Given the description of an element on the screen output the (x, y) to click on. 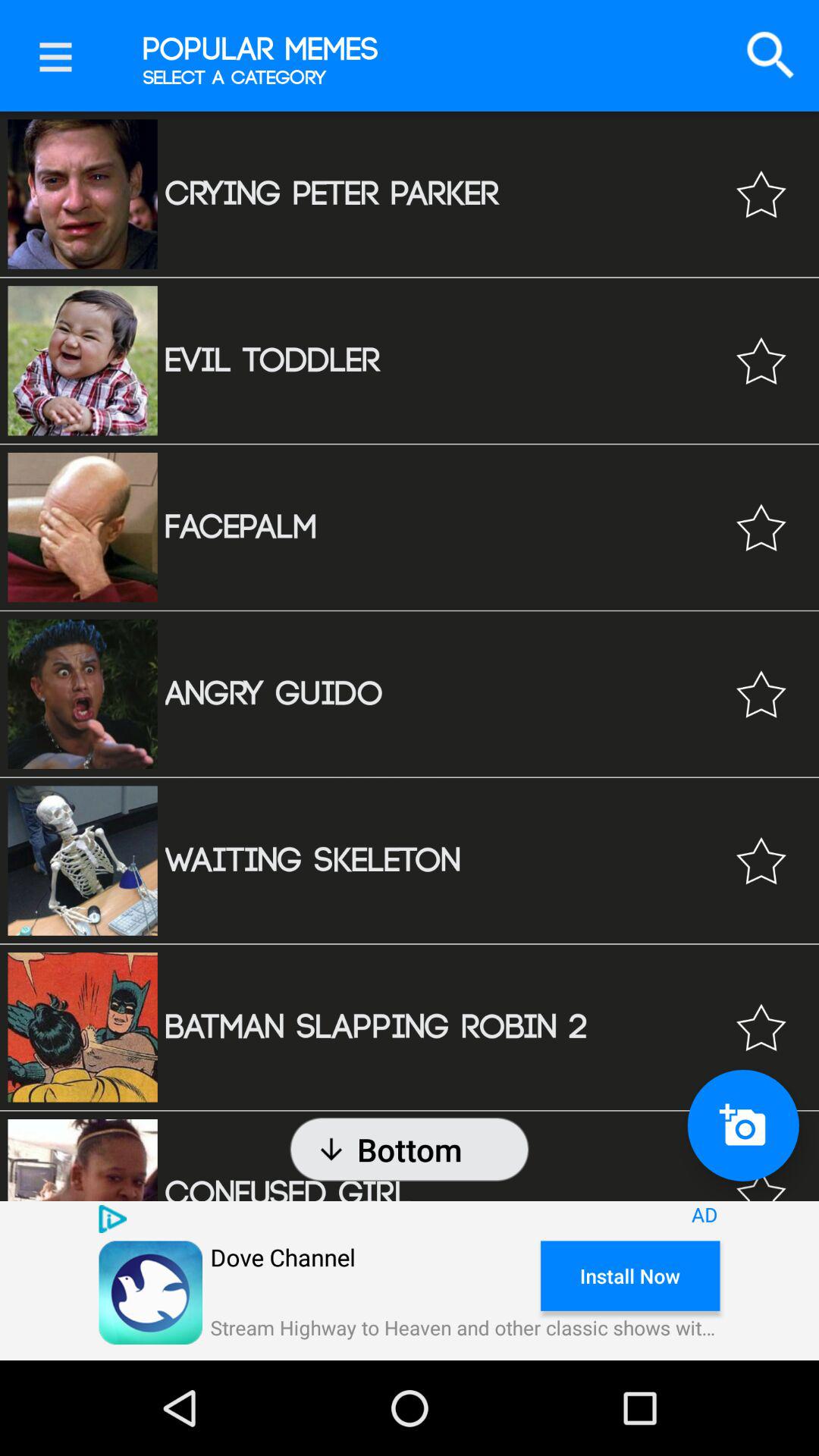
add to favorites (761, 1172)
